Given the description of an element on the screen output the (x, y) to click on. 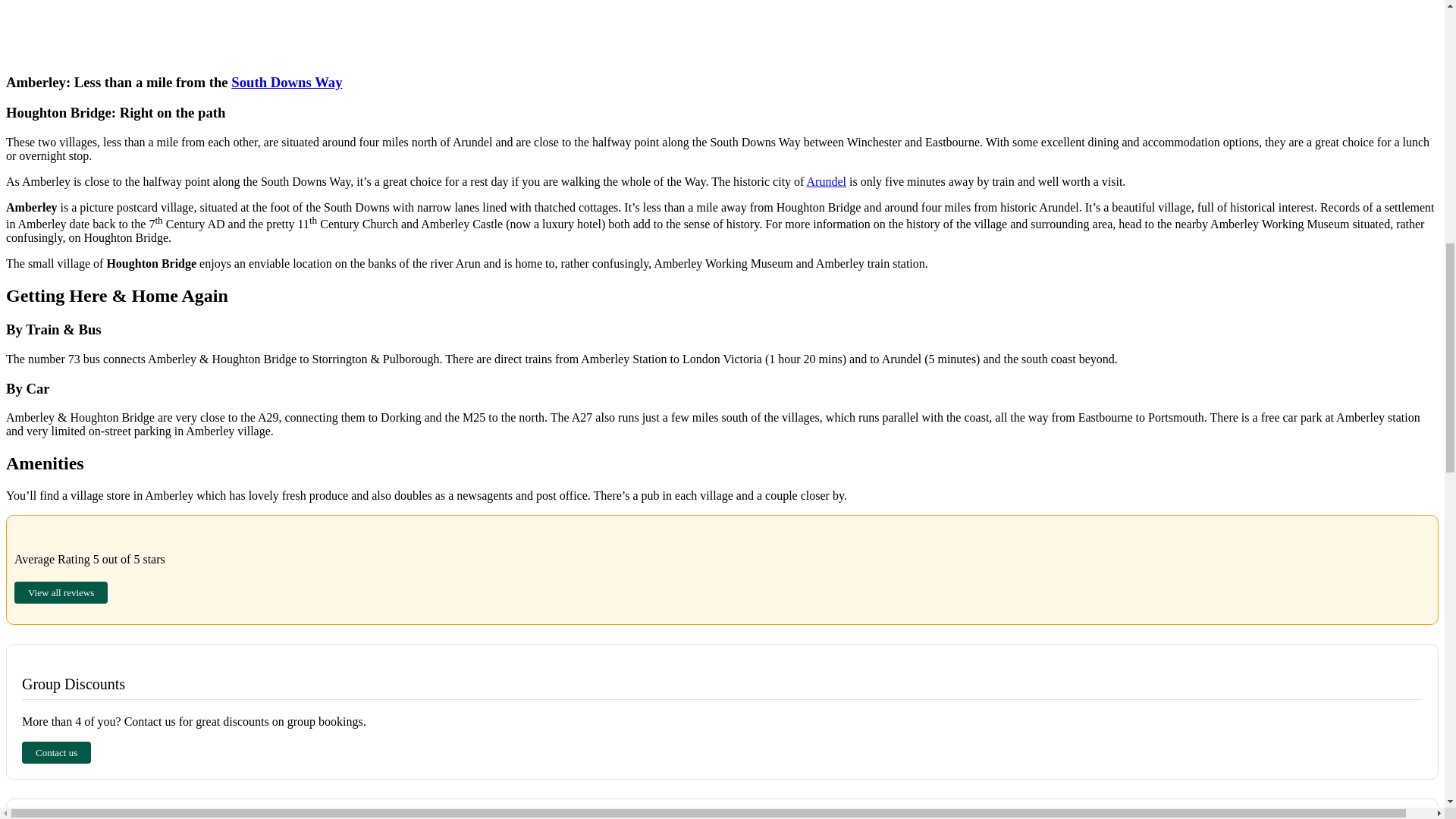
Arundel (825, 181)
